Given the description of an element on the screen output the (x, y) to click on. 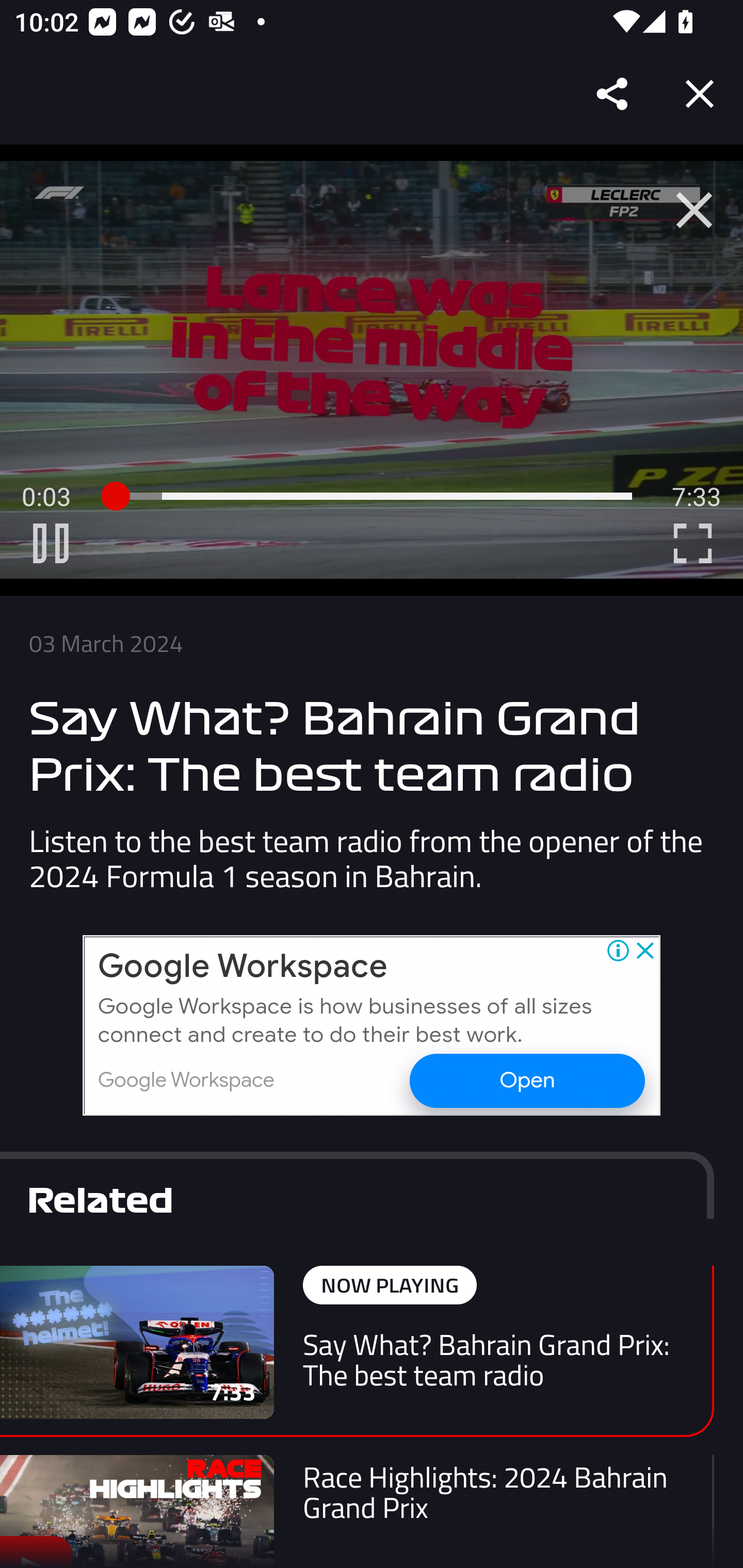
Share (612, 93)
Close (699, 93)
 Close (693, 210)
B Pause (50, 543)
C Enter Fullscreen (692, 543)
Google Workspace (243, 966)
Open (526, 1080)
Google Workspace (186, 1080)
7:13 Race Highlights: 2024 Bahrain Grand Prix (357, 1511)
